Given the description of an element on the screen output the (x, y) to click on. 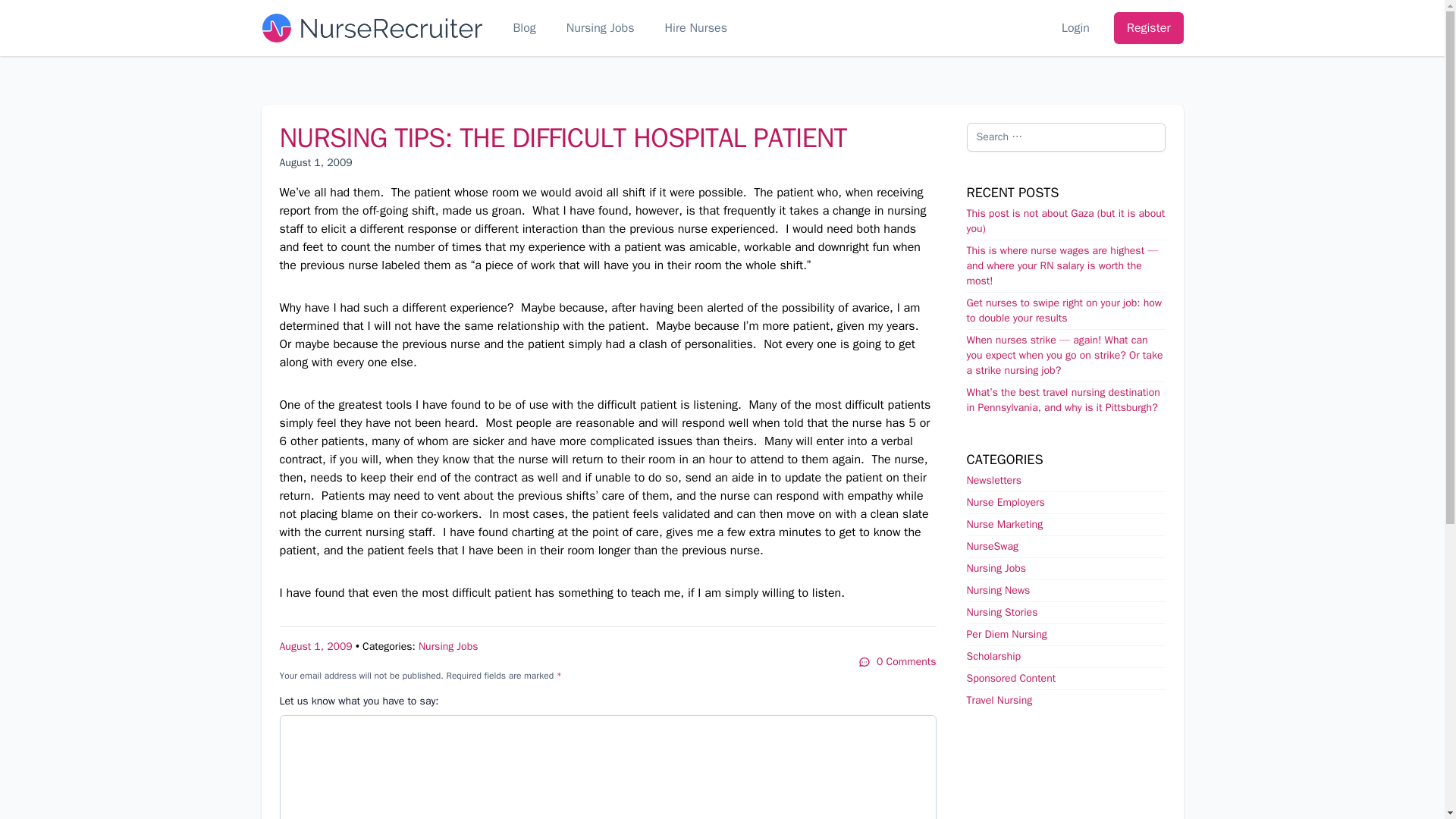
Nursing Jobs (449, 645)
Travel Nursing (999, 699)
Sponsored Content (1010, 677)
0 Comments (897, 661)
Go to comment section (897, 661)
Login (1075, 27)
Nursing Jobs (600, 27)
Search (18, 9)
Nurse Employers (1004, 502)
Nurse Marketing (1004, 523)
NurseSwag (991, 545)
Per Diem Nursing (1006, 634)
Scholarship (993, 656)
Blog (523, 27)
August 1, 2009 (315, 645)
